Given the description of an element on the screen output the (x, y) to click on. 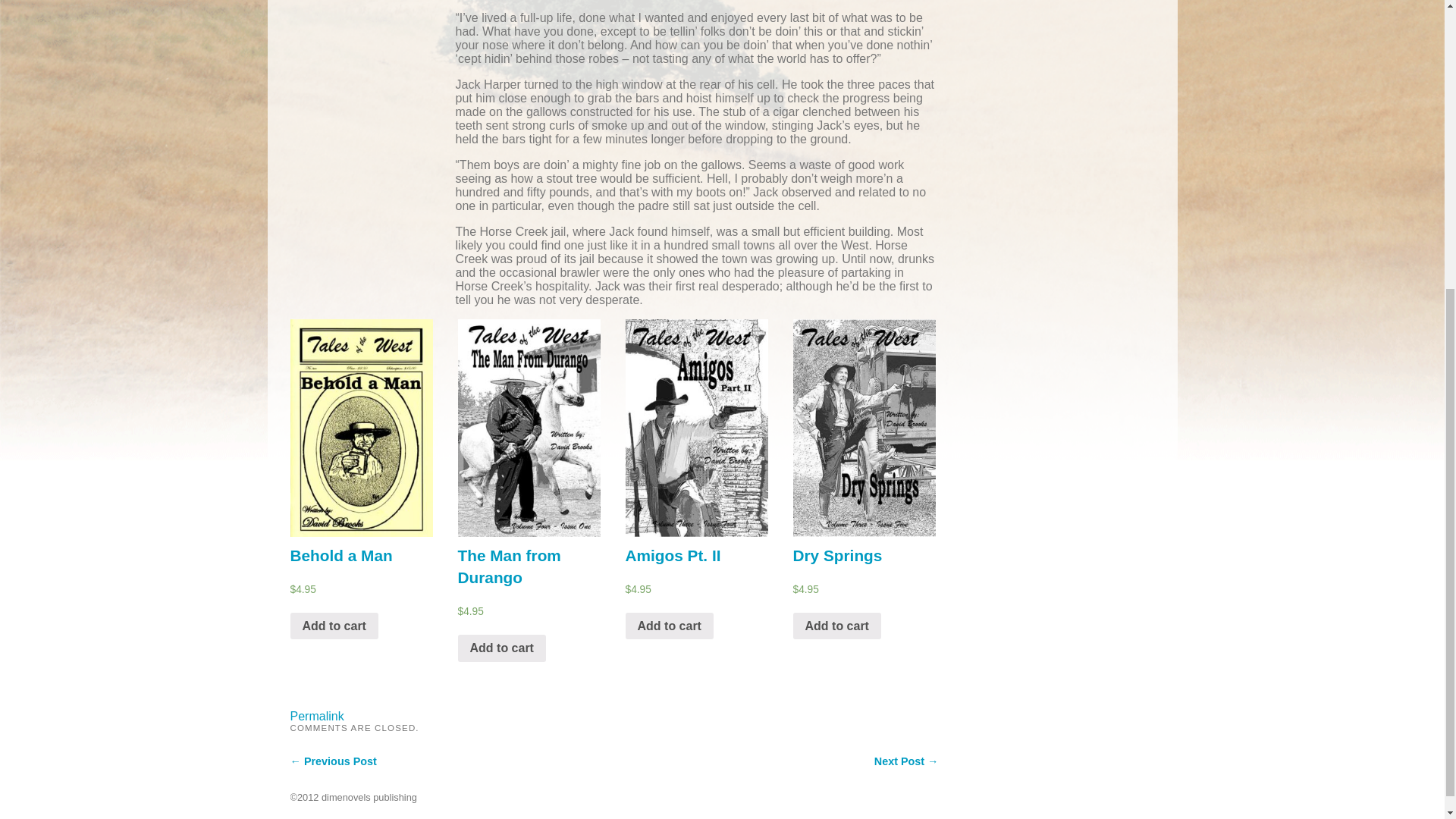
Add to cart (836, 625)
Add to cart (333, 625)
Permalink (316, 716)
Add to cart (668, 625)
Add to cart (502, 647)
